Given the description of an element on the screen output the (x, y) to click on. 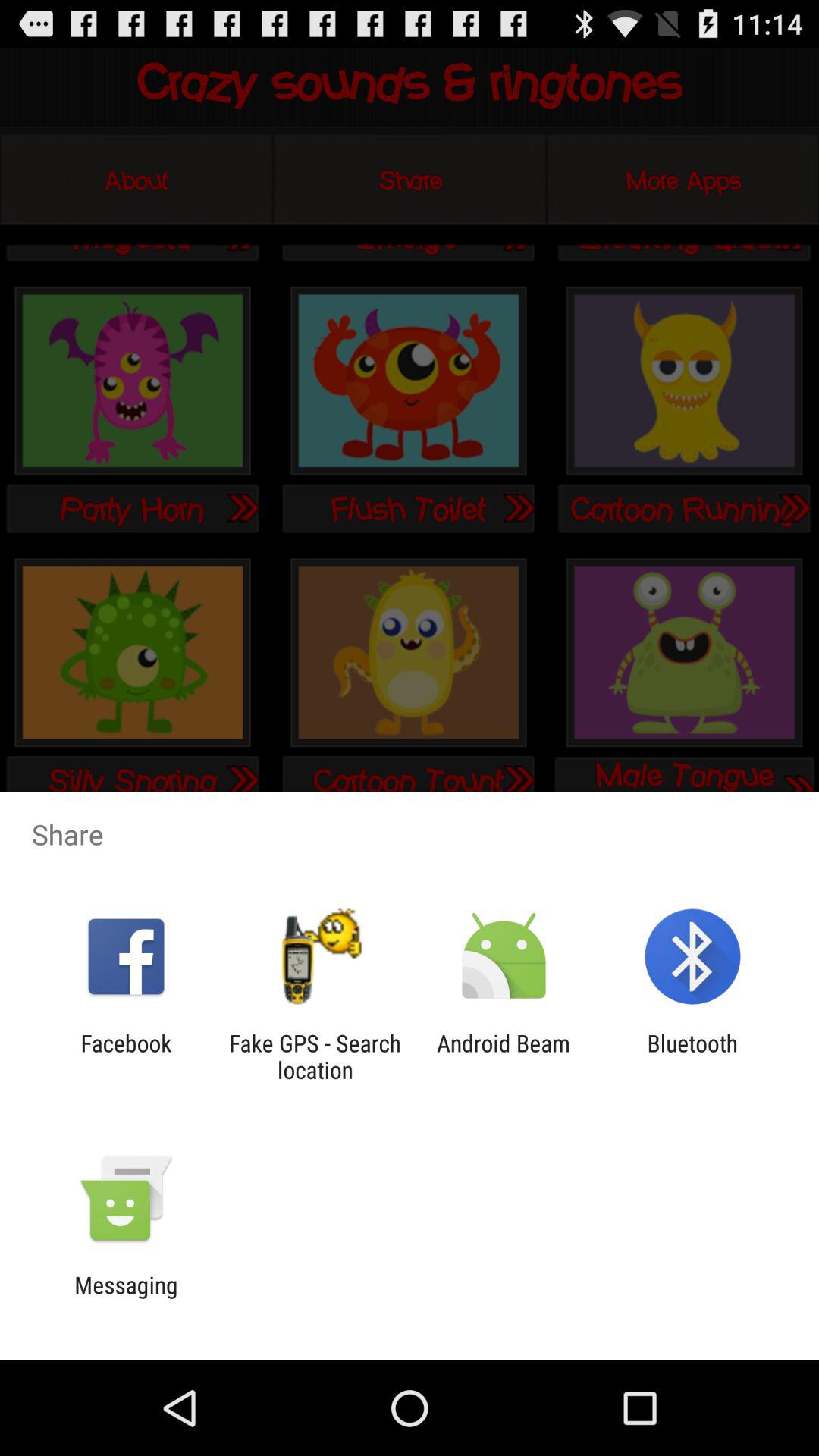
tap fake gps search item (314, 1056)
